Given the description of an element on the screen output the (x, y) to click on. 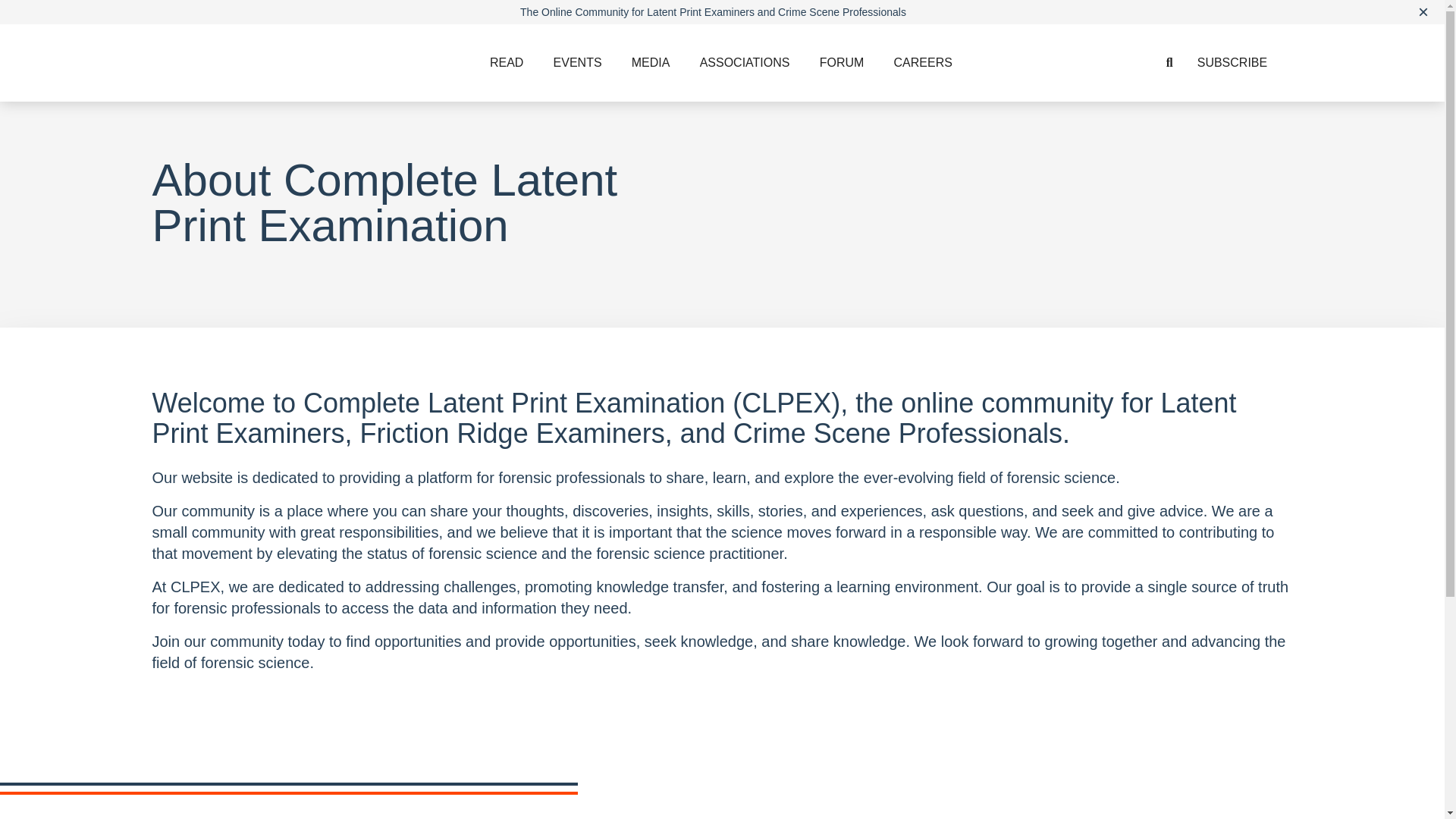
READ (506, 62)
EVENTS (577, 62)
CAREERS (923, 62)
SUBSCRIBE (1232, 62)
FORUM (841, 62)
ASSOCIATIONS (744, 62)
MEDIA (650, 62)
